Given the description of an element on the screen output the (x, y) to click on. 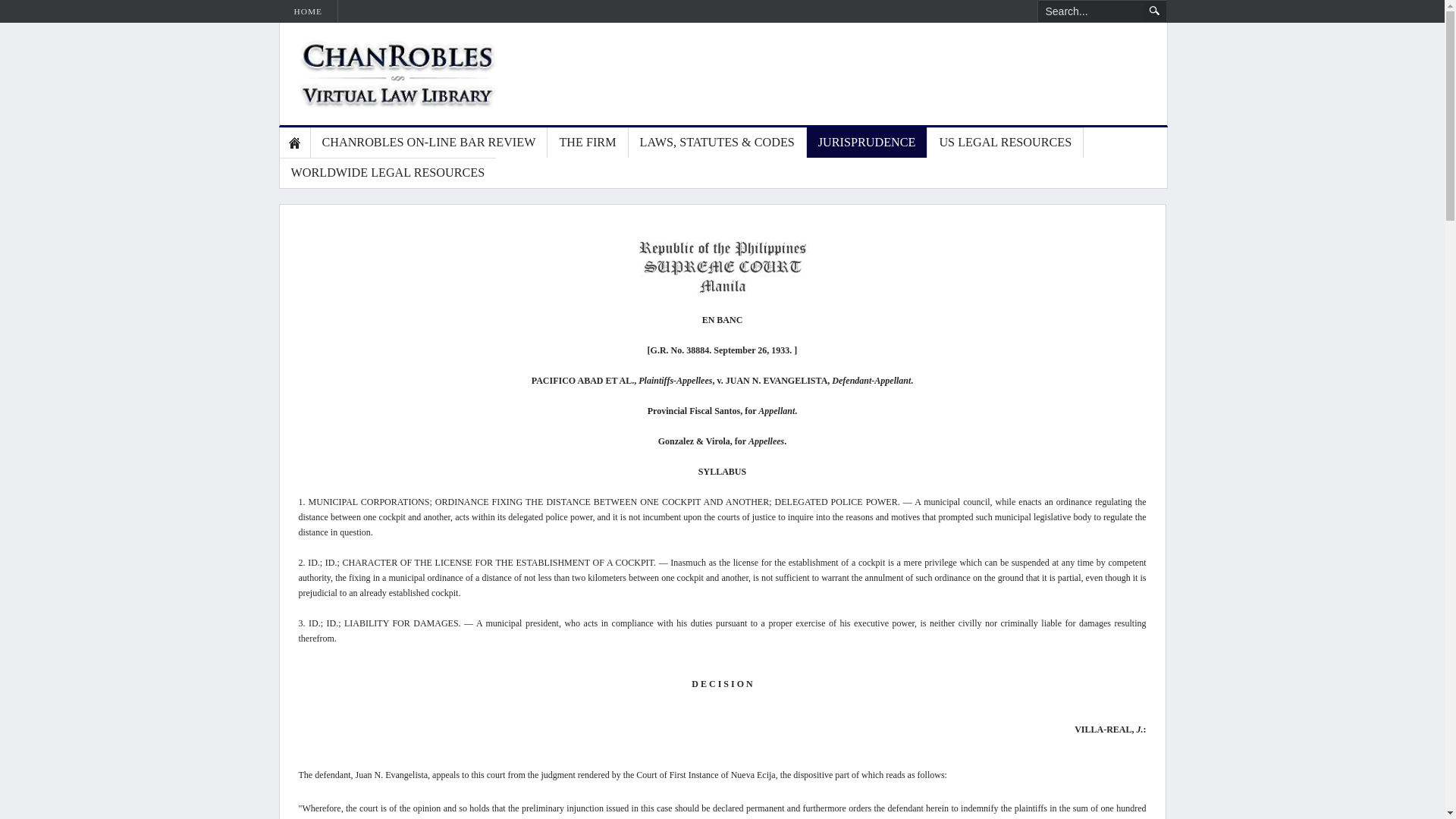
Home (294, 142)
Search... (1089, 11)
US LEGAL RESOURCES (1005, 142)
HOME (308, 11)
Jurisprudence (867, 142)
ChanRobles On-Line Bar Review (429, 142)
CHANROBLES ON-LINE BAR REVIEW (429, 142)
THE FIRM (587, 142)
The Firm (587, 142)
Home of ChanRobles Virtual Law Library (381, 73)
Search (1154, 11)
JURISPRUDENCE (867, 142)
US Legal Resources (1005, 142)
WORLDWIDE LEGAL RESOURCES (387, 173)
